Given the description of an element on the screen output the (x, y) to click on. 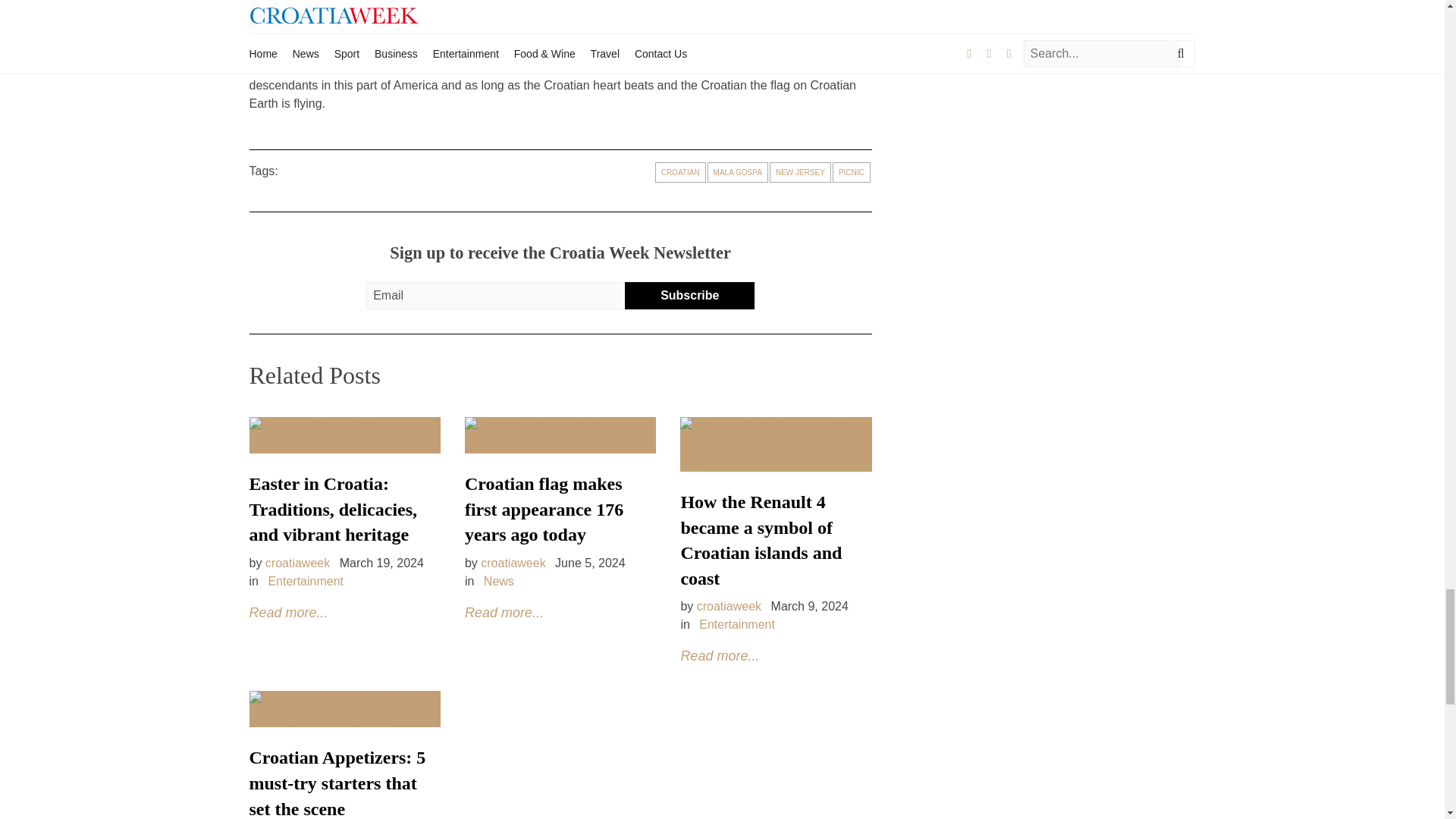
Subscribe (689, 295)
Croatian flag makes first appearance 176 years ago today (543, 509)
Croatian Appetizers: 5 must-try starters that set the scene (336, 782)
PICNIC (851, 172)
Entertainment (305, 581)
Read more... (718, 655)
croatiaweek (512, 562)
Read more... (287, 612)
Email (502, 295)
Entertainment (736, 624)
